Given the description of an element on the screen output the (x, y) to click on. 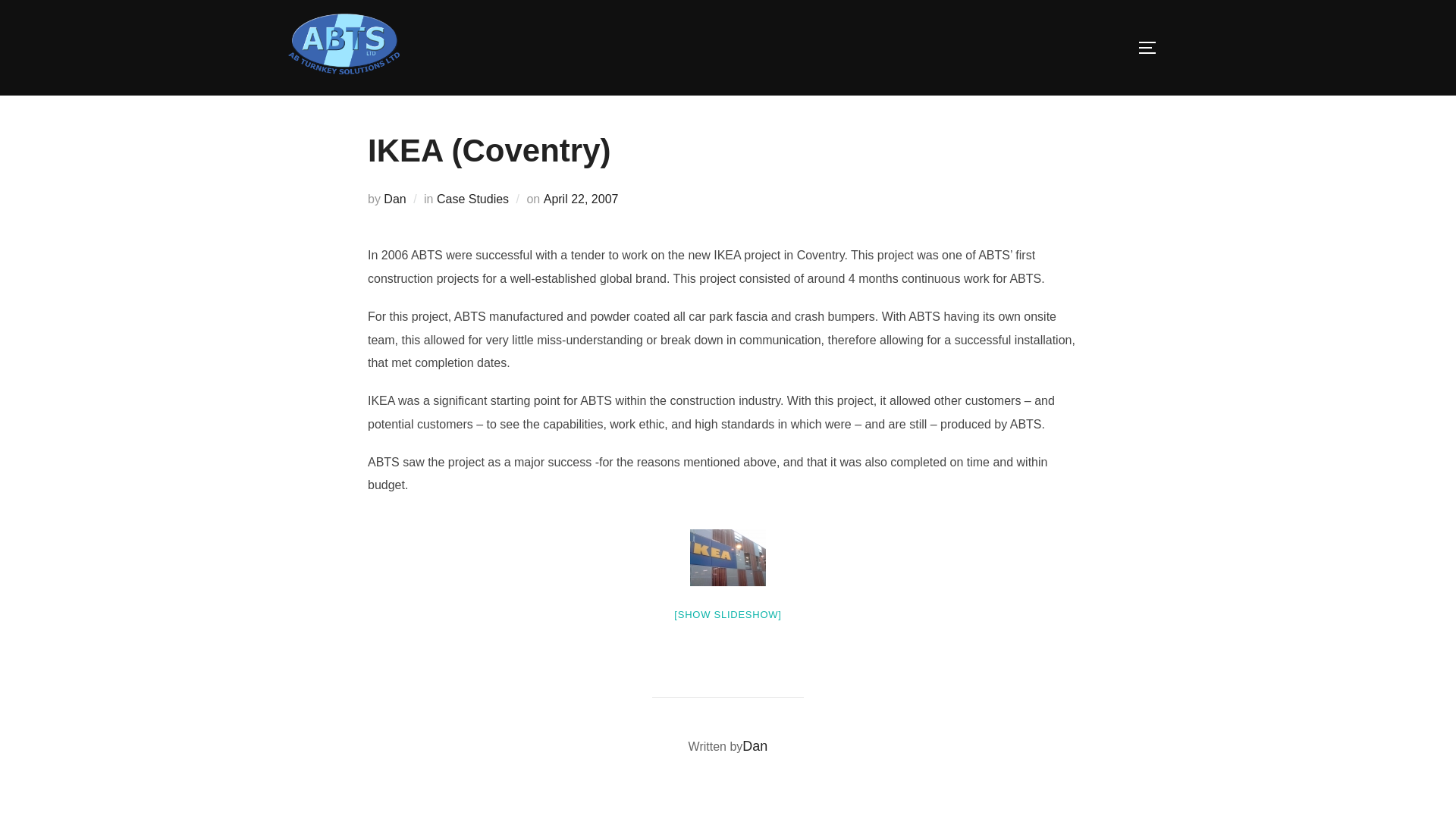
Posts by Dan (754, 745)
Dan (395, 198)
Dan (754, 745)
Ikea Coventry (727, 557)
Case Studies (472, 198)
April 22, 2007 (580, 198)
